Given the description of an element on the screen output the (x, y) to click on. 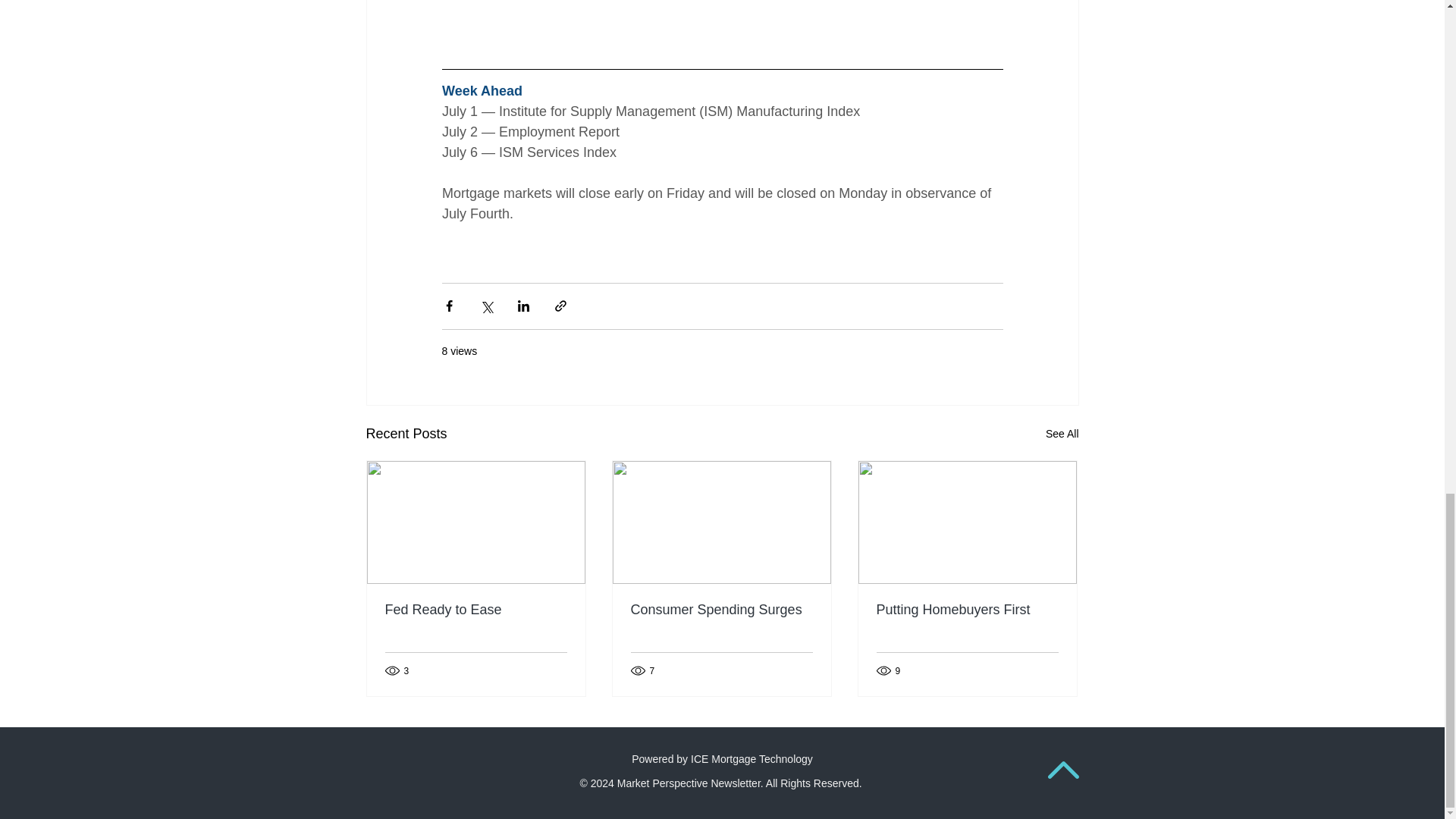
Consumer Spending Surges (721, 609)
See All (1061, 434)
Fed Ready to Ease (476, 609)
Putting Homebuyers First (967, 609)
